Given the description of an element on the screen output the (x, y) to click on. 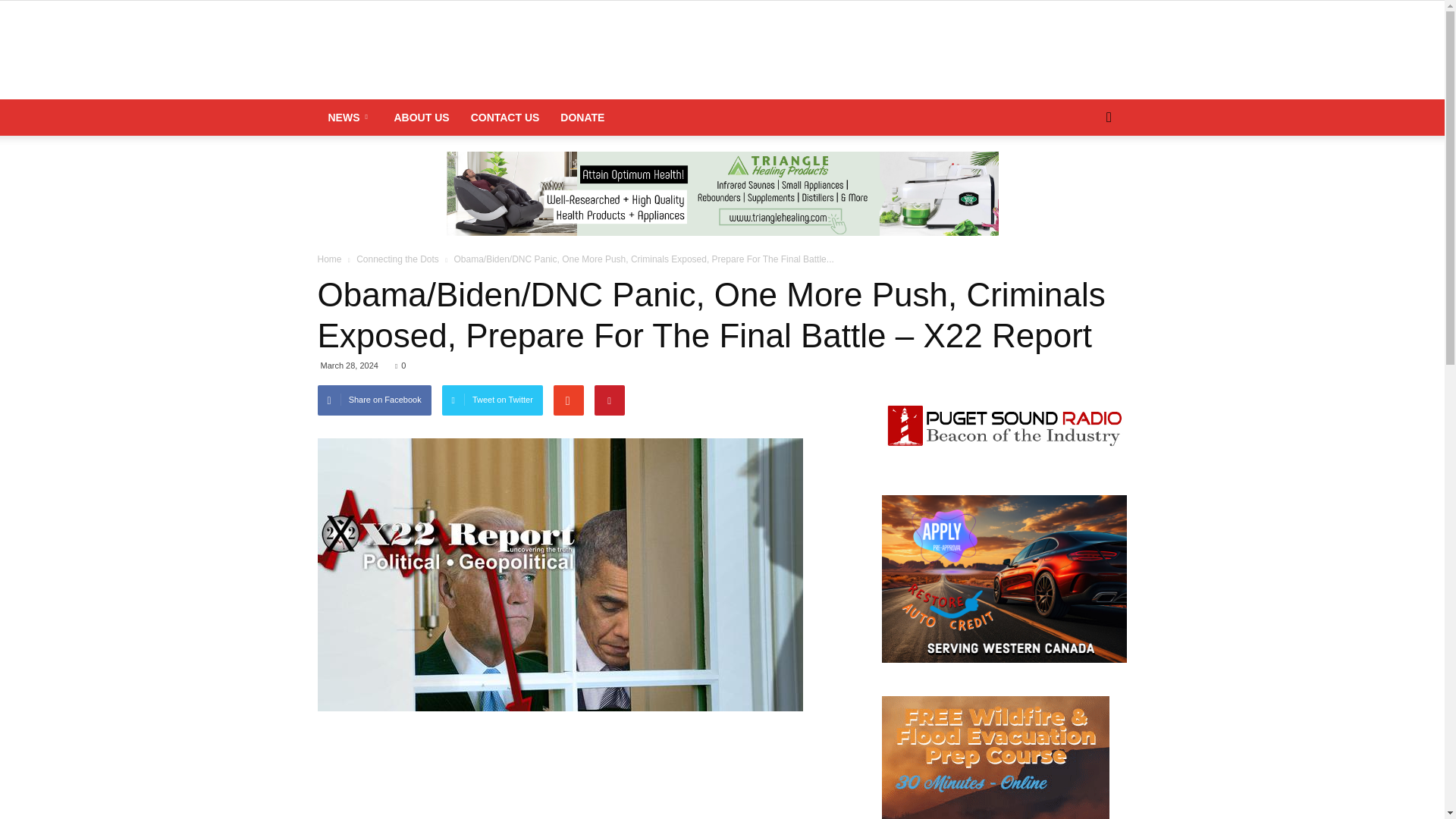
Easton Spectator Connecting the Dots... (722, 50)
NEWS (349, 117)
View all posts in Connecting the Dots (398, 258)
ABOUT US (422, 117)
Connecting the Dots (398, 258)
Home (330, 258)
0 (400, 365)
thursmar28x22 (559, 574)
DONATE (582, 117)
CONTACT US (505, 117)
